Given the description of an element on the screen output the (x, y) to click on. 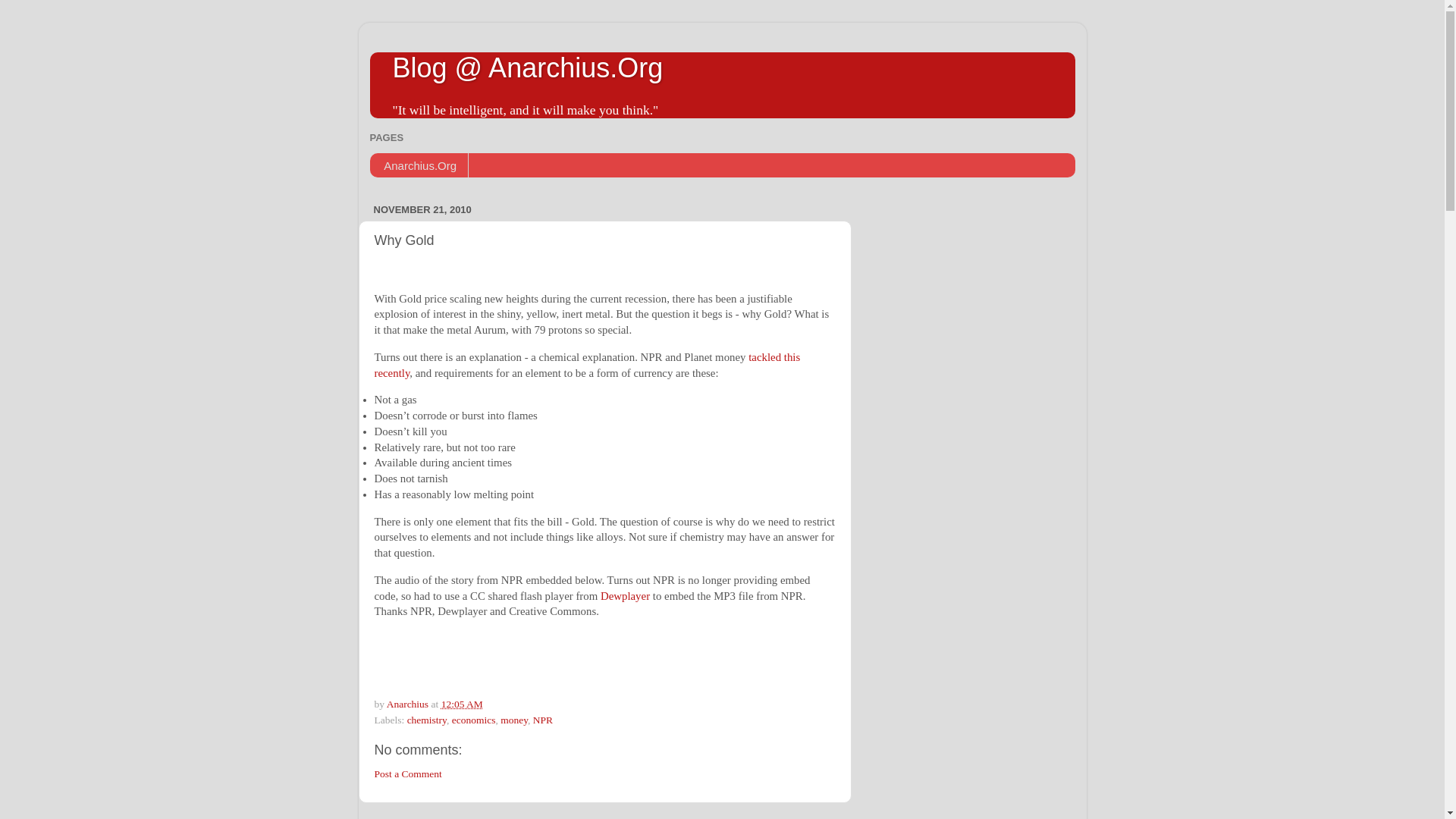
Newer Post (405, 818)
tackled this recently (587, 365)
economics (473, 719)
Anarchius.Org (418, 165)
Older Post (473, 818)
Post a Comment (408, 773)
NPR (542, 719)
permanent link (462, 704)
author profile (408, 704)
Dewplayer (624, 595)
Email Post (491, 704)
money (513, 719)
Older Post (473, 818)
chemistry (426, 719)
